Given the description of an element on the screen output the (x, y) to click on. 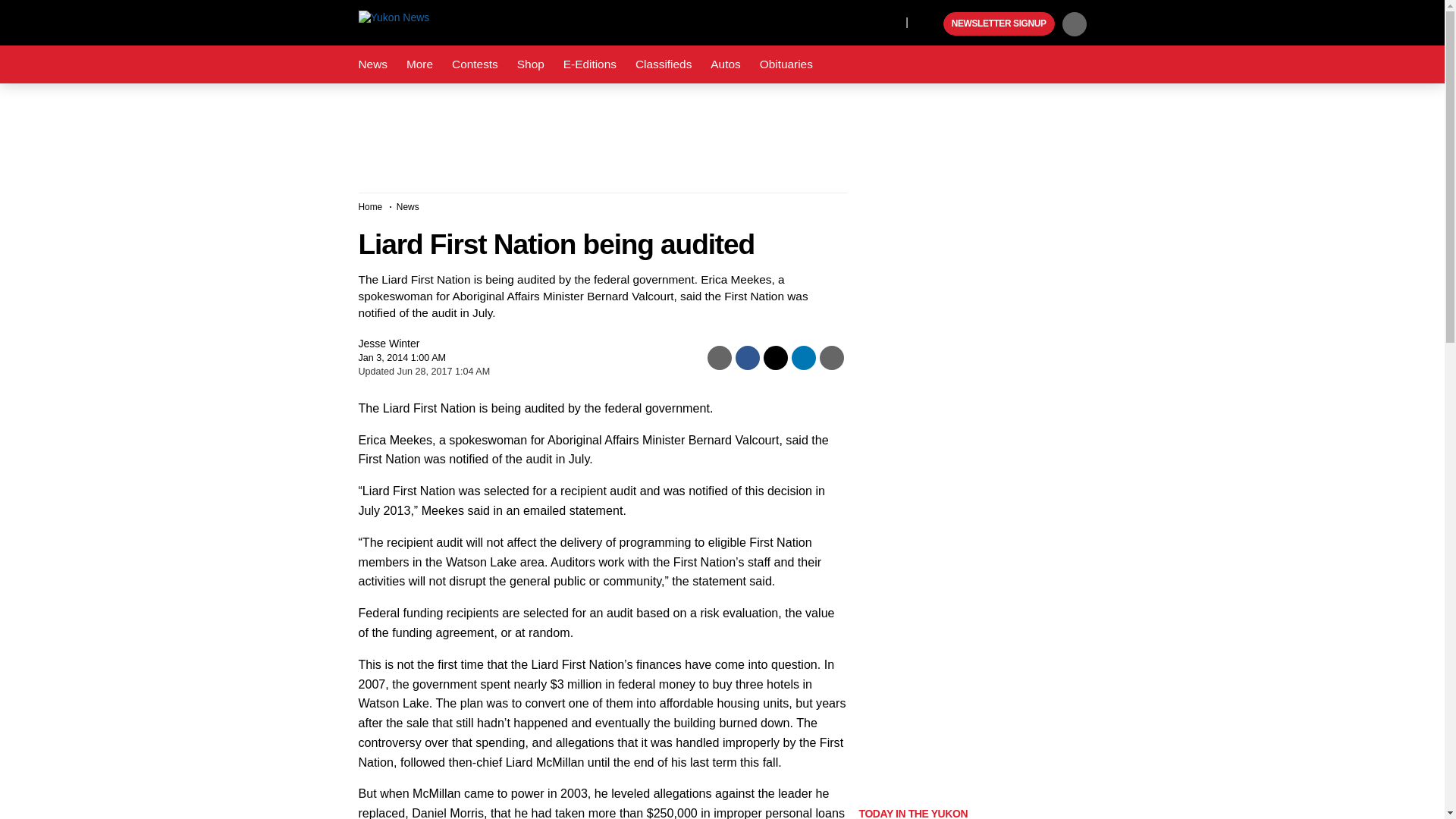
X (889, 21)
Play (929, 24)
News (372, 64)
NEWSLETTER SIGNUP (998, 24)
Black Press Media (929, 24)
